Given the description of an element on the screen output the (x, y) to click on. 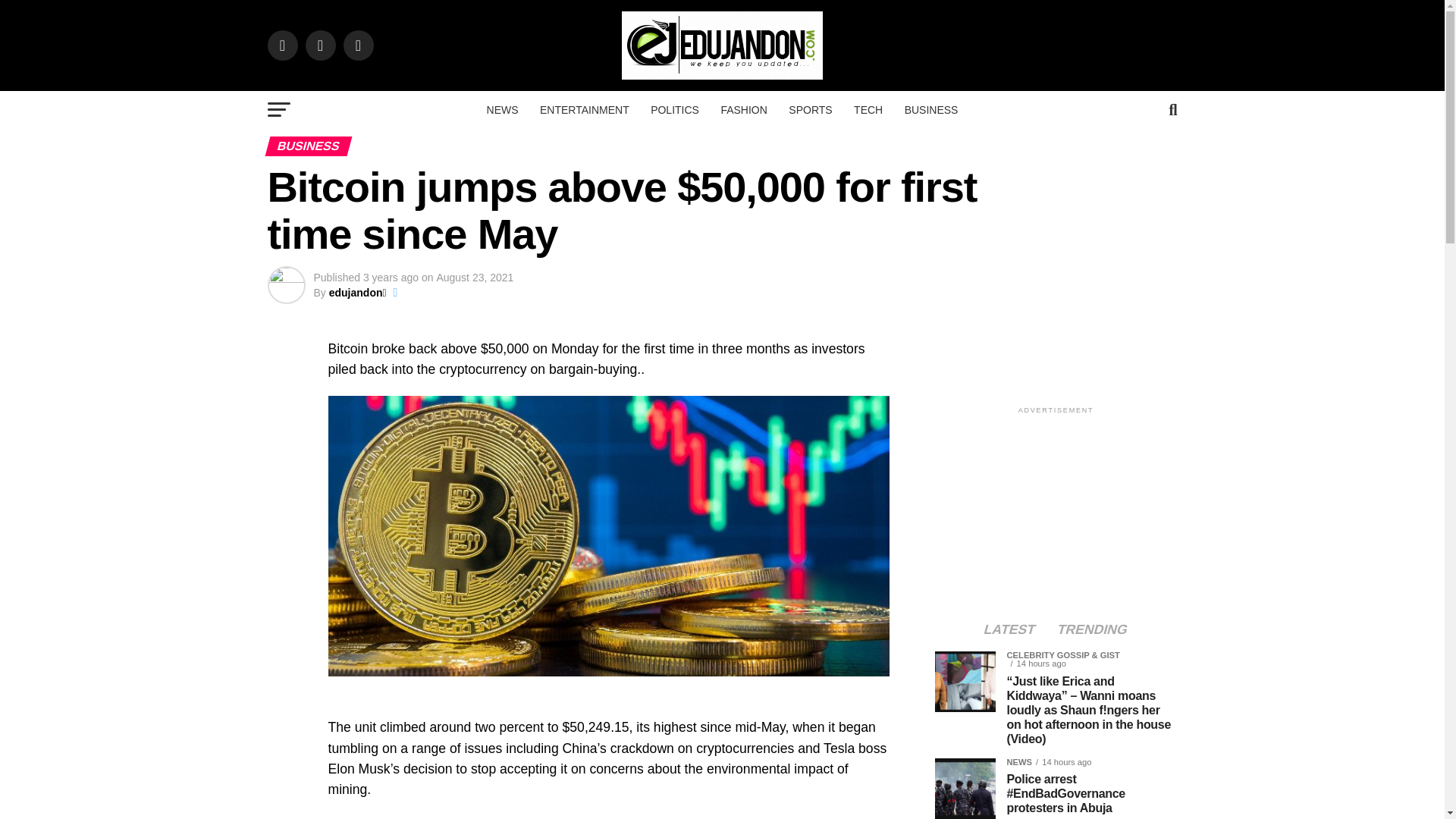
NEWS (502, 109)
POLITICS (674, 109)
ENTERTAINMENT (585, 109)
FASHION (743, 109)
